Given the description of an element on the screen output the (x, y) to click on. 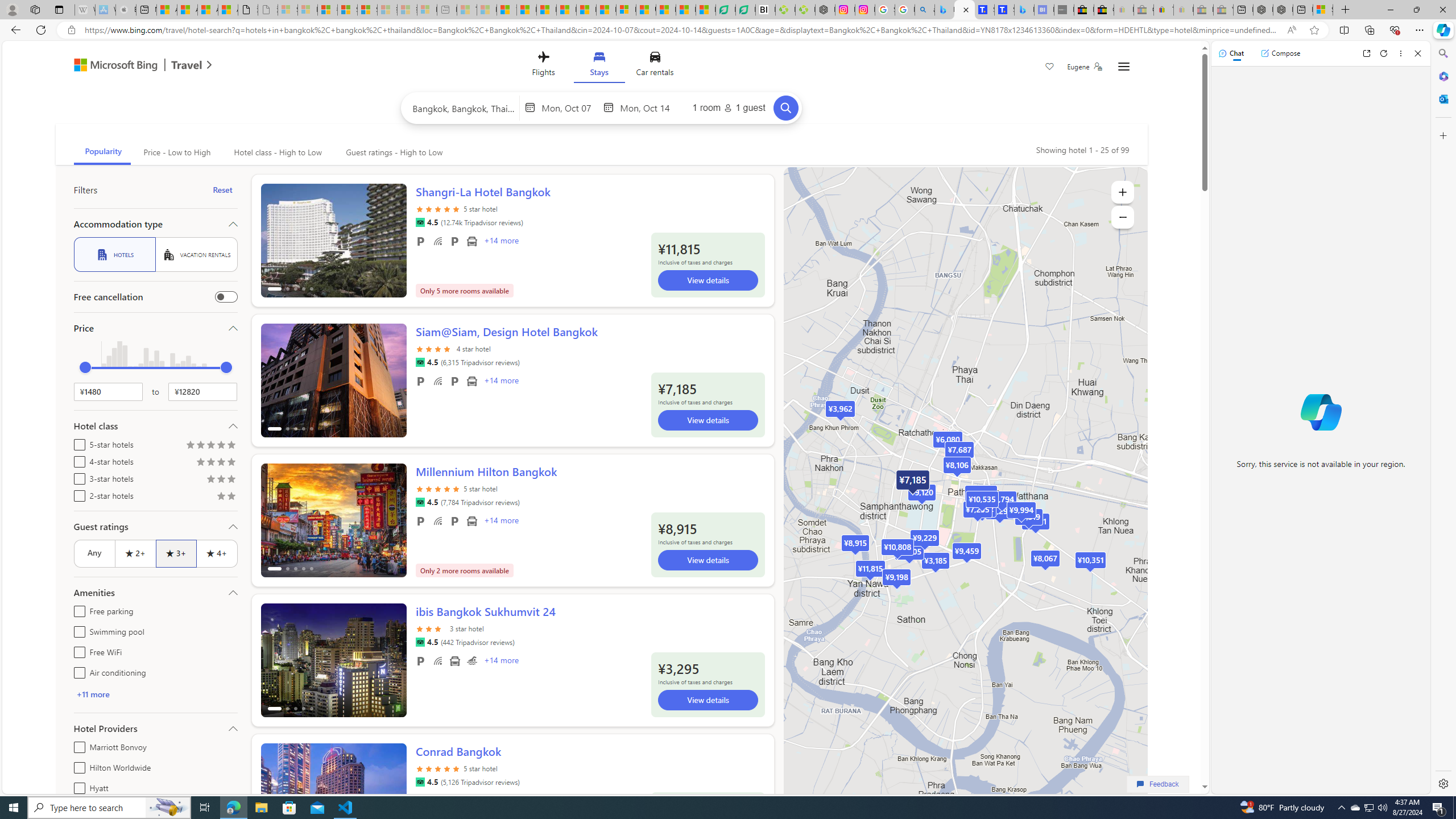
Buy iPad - Apple - Sleeping (125, 9)
Free cancellation (225, 296)
Microsoft Bing Travel - Stays in Bangkok, Bangkok, Thailand (964, 9)
Aberdeen, Hong Kong SAR weather forecast | Microsoft Weather (186, 9)
Stays (598, 65)
Hotel Providers (154, 728)
Nordace - Nordace Edin Collection (825, 9)
Descarga Driver Updater (804, 9)
Airport transportation (454, 660)
